Given the description of an element on the screen output the (x, y) to click on. 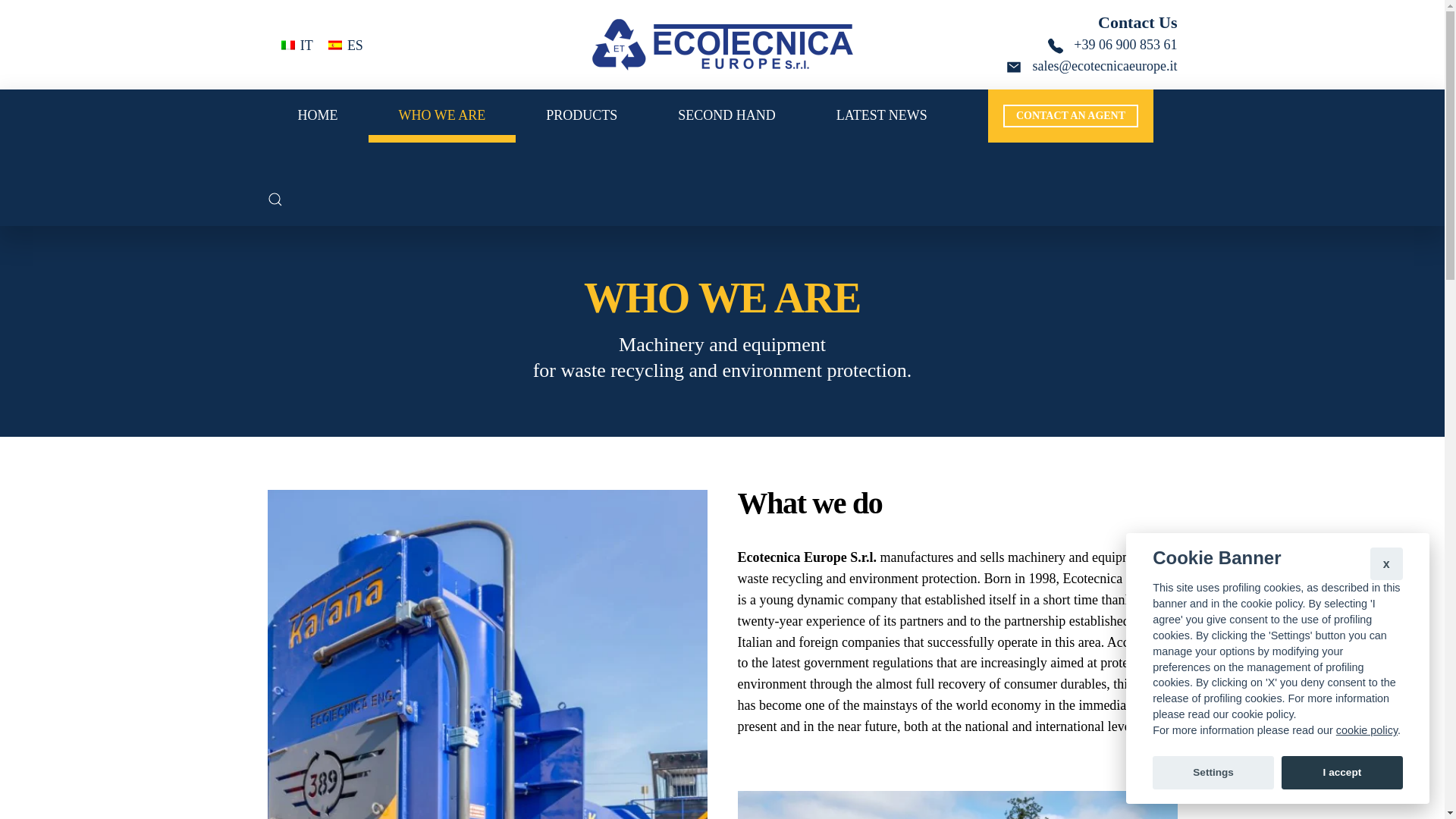
LATEST NEWS (882, 115)
SECOND HAND (726, 115)
What we do (956, 502)
HOME (317, 115)
PRODUCTS (581, 115)
IT (296, 44)
Shears for metal (956, 805)
ES (345, 44)
WHO WE ARE (442, 115)
WHO WE ARE (721, 297)
CONTACT AN AGENT (1070, 115)
